Given the description of an element on the screen output the (x, y) to click on. 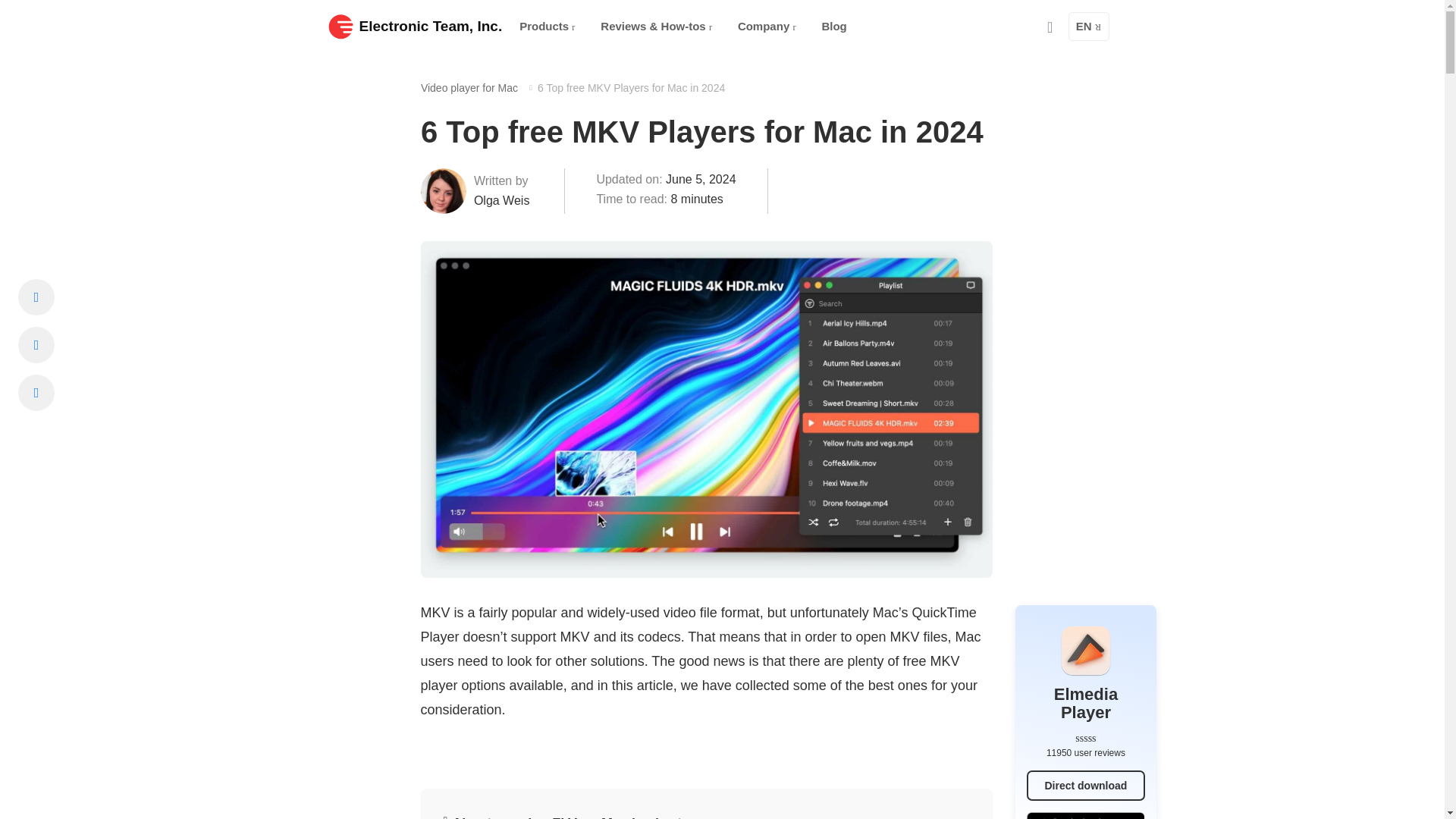
Products (547, 26)
Electronic Team, Inc. (414, 25)
Blog (834, 26)
Company (767, 26)
Blog (834, 26)
EN (1088, 26)
